Given the description of an element on the screen output the (x, y) to click on. 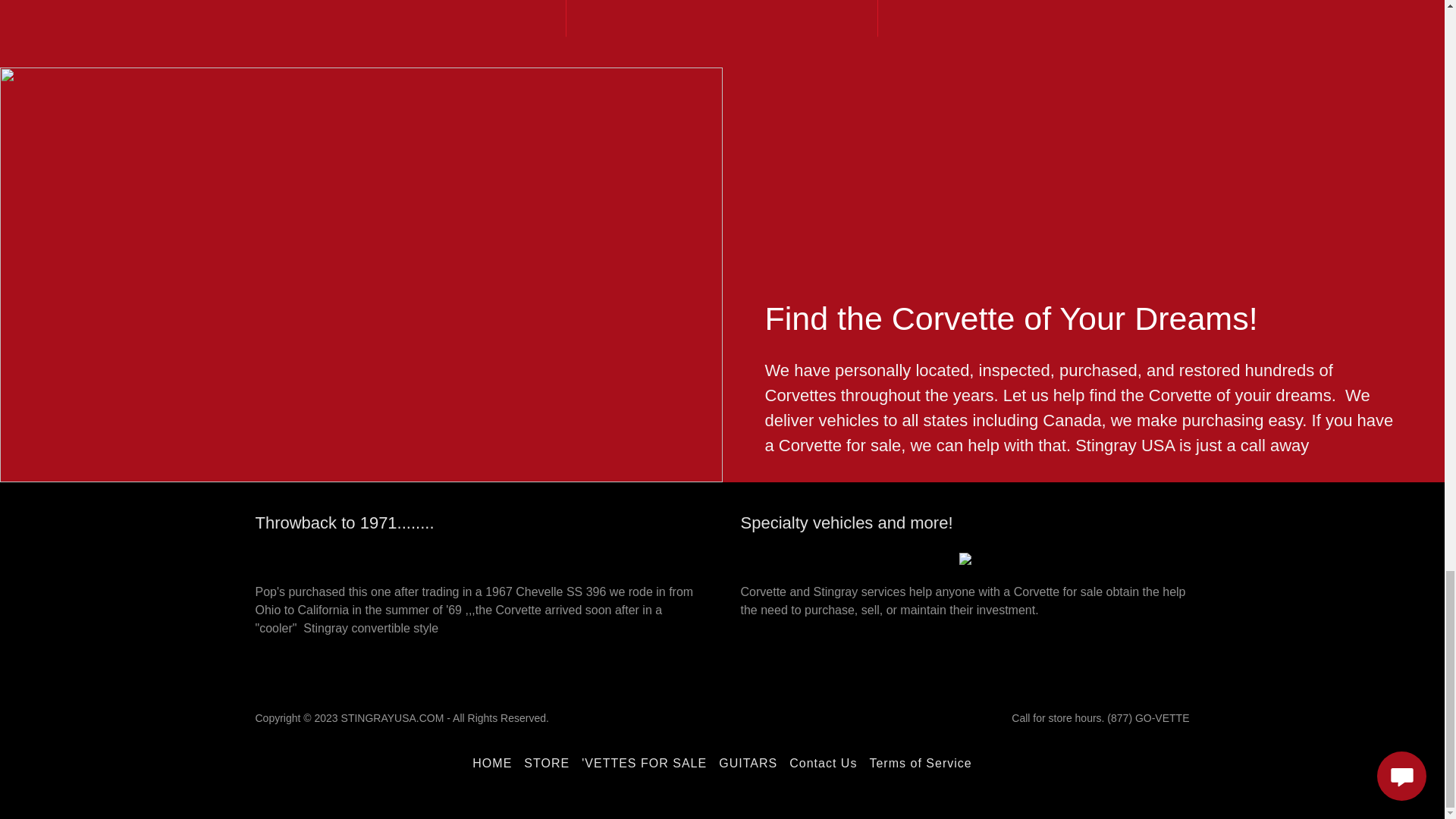
STORE (546, 763)
GUITARS (748, 763)
Contact Us (823, 763)
Terms of Service (919, 763)
'VETTES FOR SALE (644, 763)
HOME (491, 763)
